Given the description of an element on the screen output the (x, y) to click on. 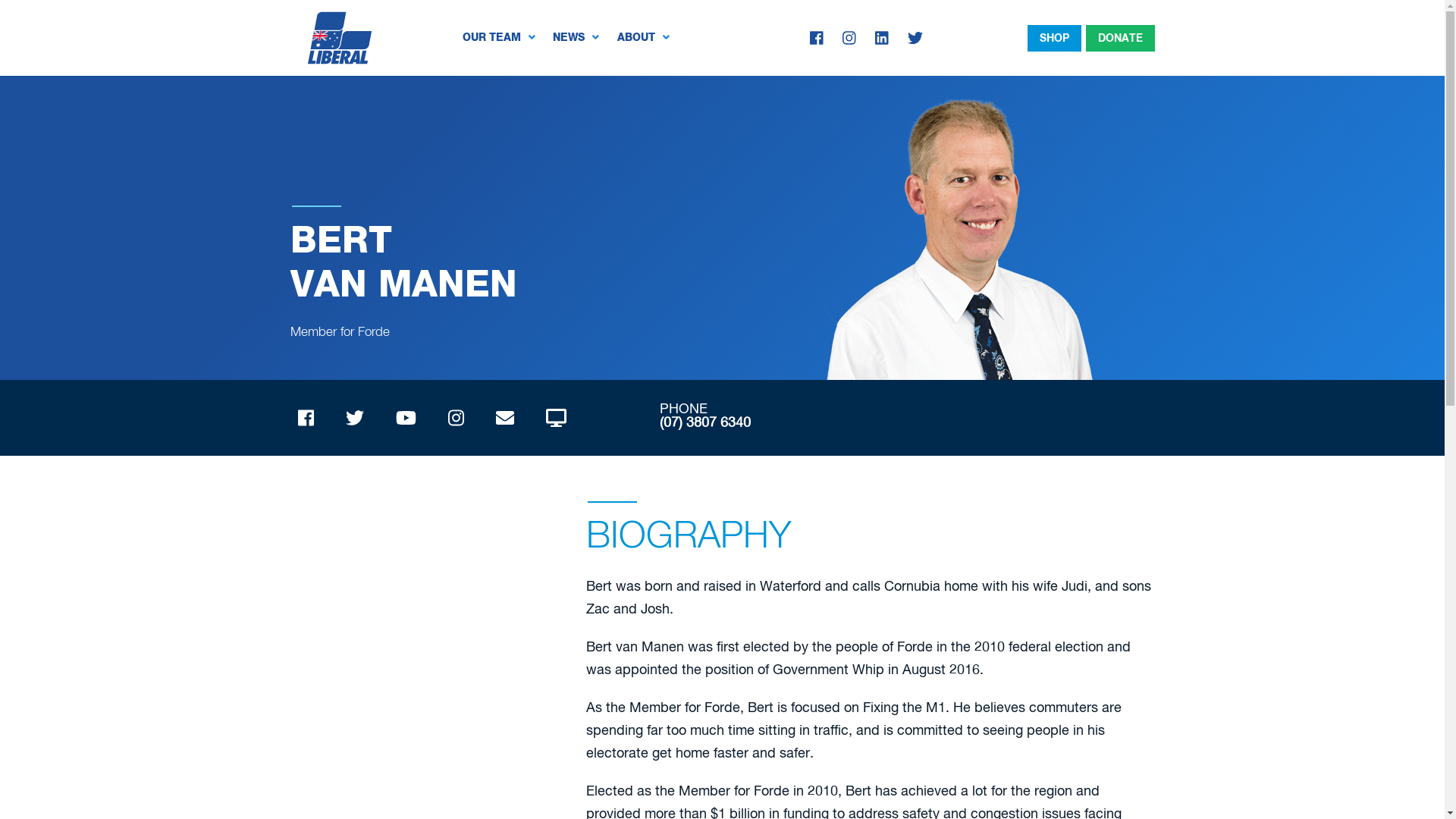
NEWS Element type: text (575, 37)
LinkedIn Element type: text (881, 37)
Search Element type: text (34, 18)
SHOP Element type: text (1054, 37)
ABOUT Element type: text (643, 37)
Instagram Element type: text (849, 37)
DONATE Element type: text (1119, 37)
OUR TEAM Element type: text (498, 37)
(07) 3807 6340 Element type: text (704, 422)
Twitter Element type: text (914, 37)
Facebook Element type: text (816, 37)
